Given the description of an element on the screen output the (x, y) to click on. 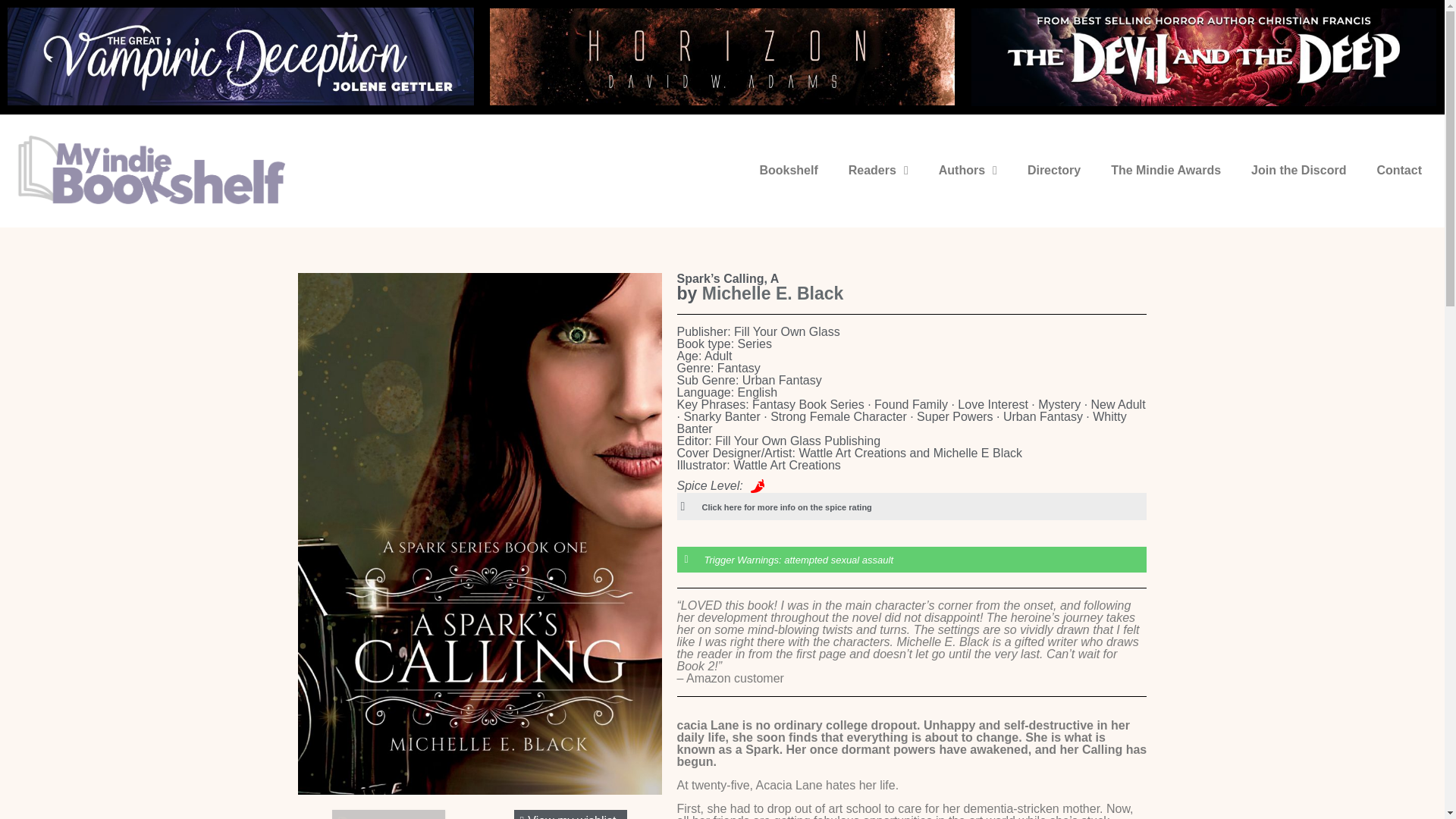
Authors (967, 170)
Join the Discord (1298, 170)
Illustrator: Wattle Art Creations (758, 465)
Click here for more info on the spice rating (786, 506)
Add to Wishlist (388, 814)
The Mindie Awards (1166, 170)
View my wishlist (569, 814)
Directory (1053, 170)
Bookshelf (788, 170)
Contact (1399, 170)
